Given the description of an element on the screen output the (x, y) to click on. 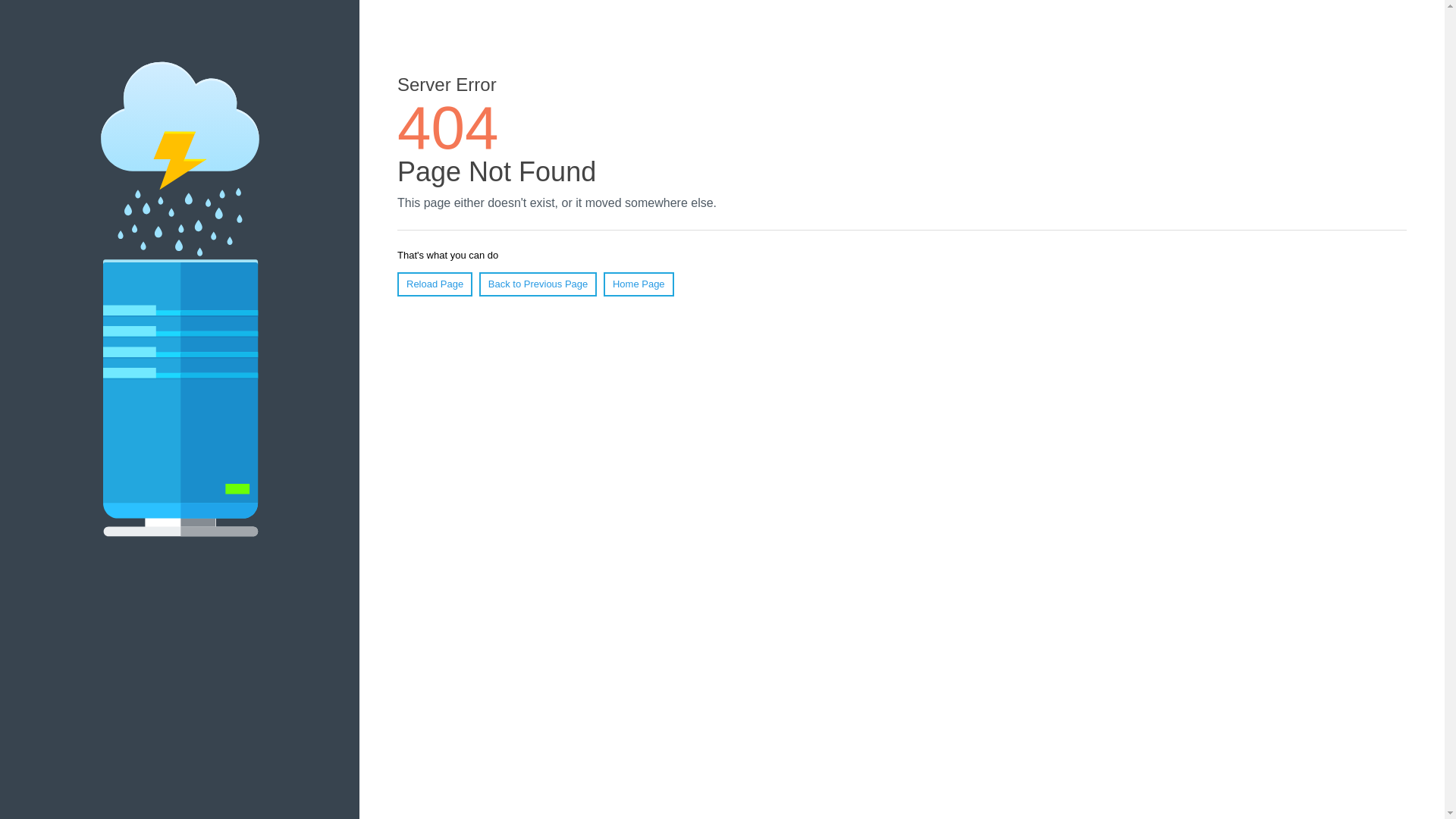
Reload Page Element type: text (434, 284)
Home Page Element type: text (638, 284)
Back to Previous Page Element type: text (538, 284)
